Given the description of an element on the screen output the (x, y) to click on. 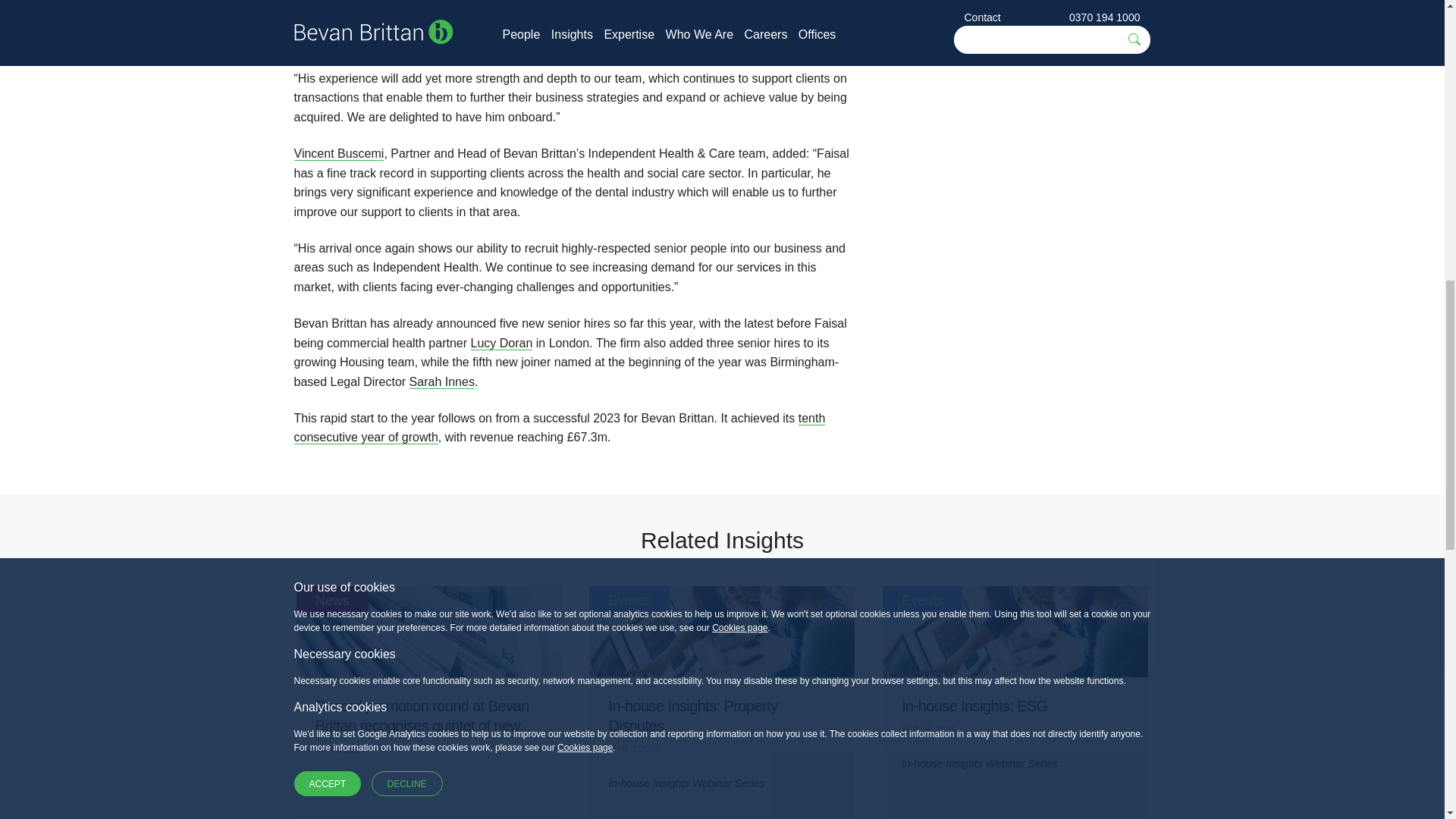
Sarah Innes (441, 382)
Vincent Buscemi (339, 153)
Vincent Buscemi (339, 153)
Lucy Doran (501, 343)
Christian Hunt (332, 5)
Lucy Doran (501, 343)
Sarah Innes (441, 382)
Christian Hunt (332, 5)
tenth consecutive year of growth (559, 428)
